Given the description of an element on the screen output the (x, y) to click on. 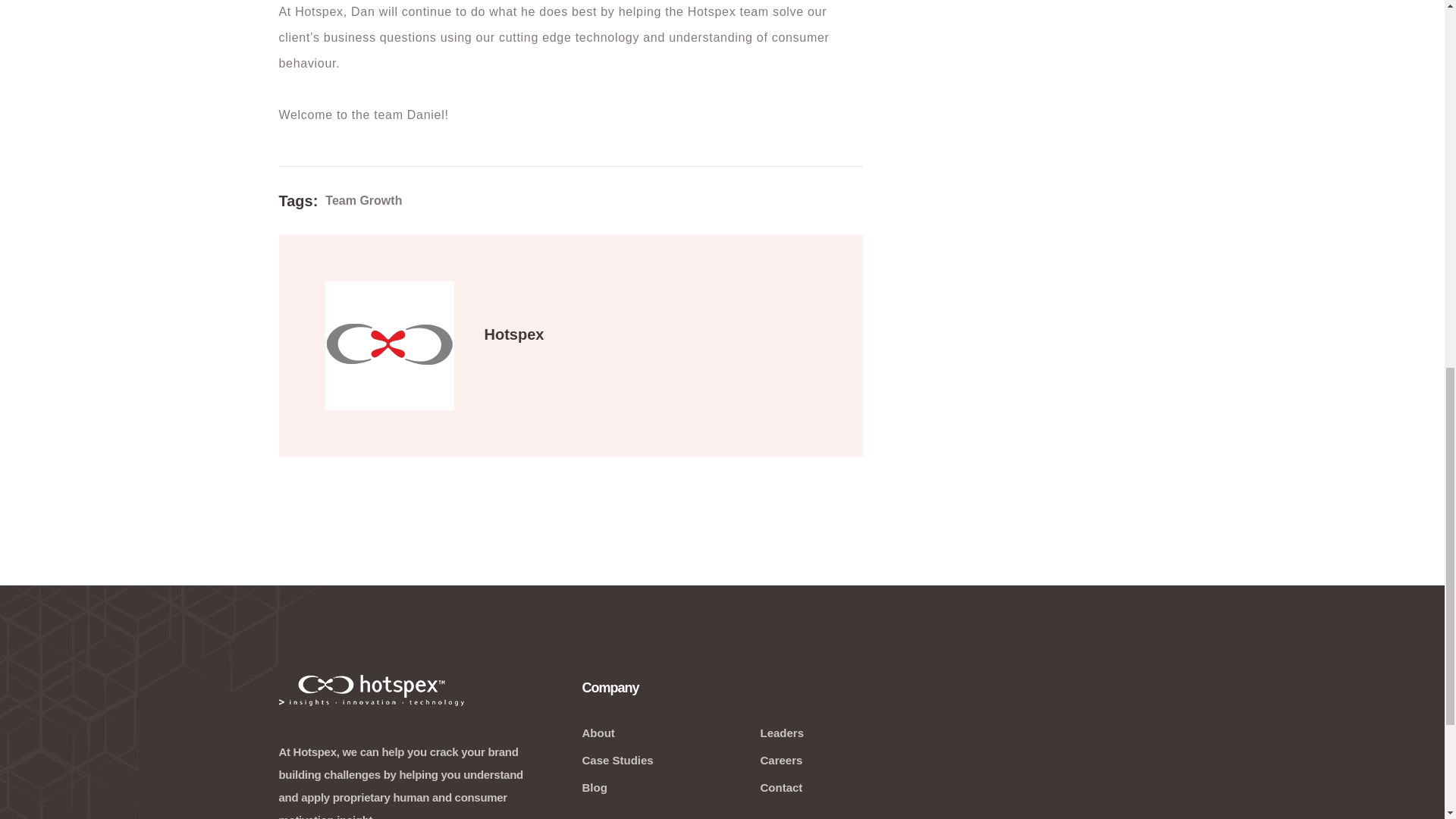
Contact (781, 787)
Case Studies (616, 759)
Blog (593, 787)
Team Growth (362, 200)
Leaders (781, 732)
Careers (781, 759)
About (597, 732)
